Given the description of an element on the screen output the (x, y) to click on. 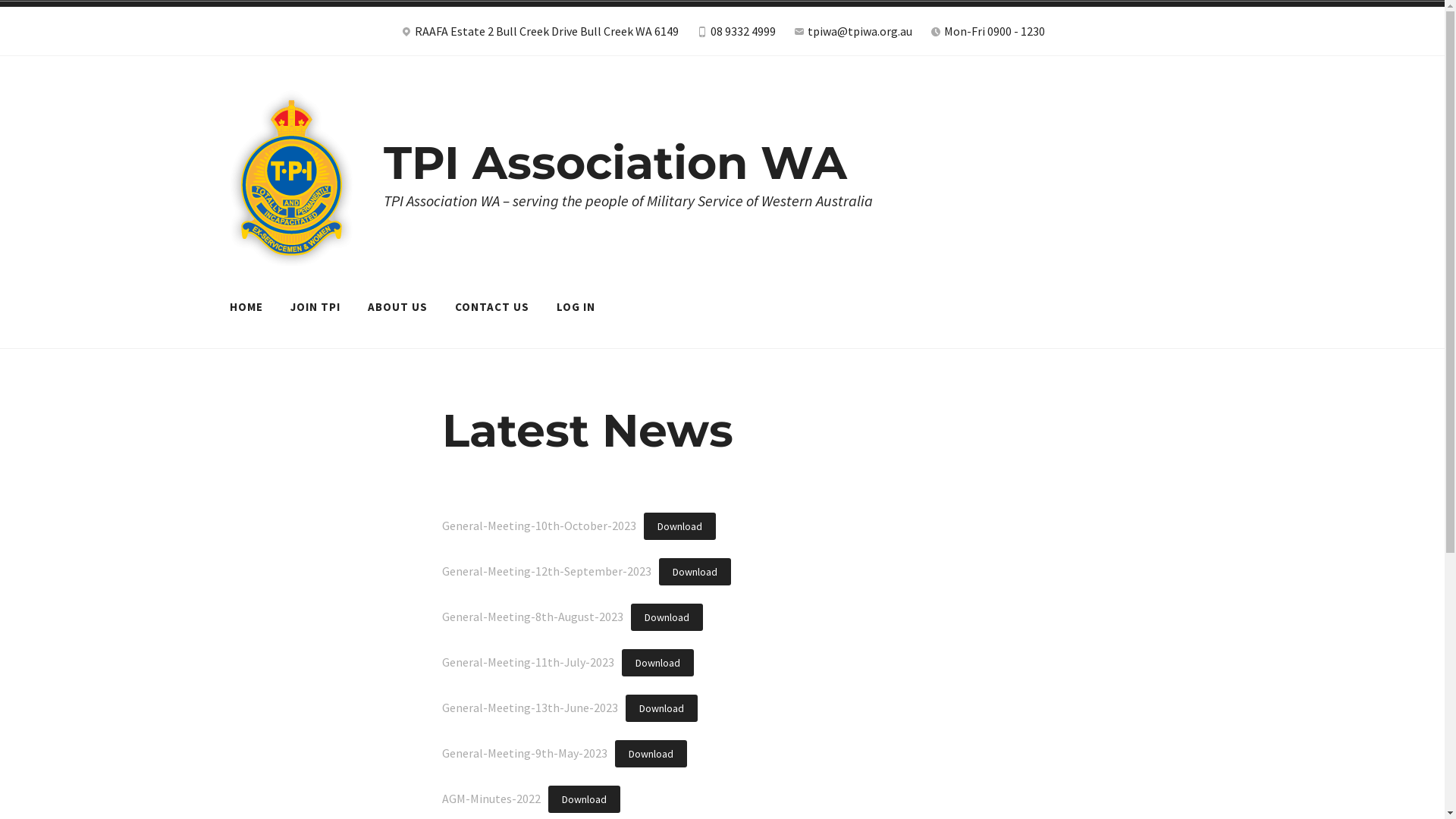
Download Element type: text (661, 707)
LOG IN Element type: text (574, 306)
General-Meeting-13th-June-2023 Element type: text (529, 707)
General-Meeting-10th-October-2023 Element type: text (538, 525)
Download Element type: text (584, 798)
General-Meeting-9th-May-2023 Element type: text (523, 752)
ABOUT US Element type: text (397, 306)
Download Element type: text (679, 525)
General-Meeting-11th-July-2023 Element type: text (527, 661)
Download Element type: text (651, 753)
General-Meeting-12th-September-2023 Element type: text (545, 570)
Download Element type: text (666, 616)
Location RAAFA Estate 2 Bull Creek Drive Bull Creek WA 6149 Element type: text (539, 34)
Download Element type: text (694, 571)
CONTACT US Element type: text (490, 306)
HOME Element type: text (246, 306)
JOIN TPI Element type: text (315, 306)
TPI Association WA Element type: text (615, 162)
General-Meeting-8th-August-2023 Element type: text (531, 616)
Phone 08 9332 4999 Element type: text (735, 34)
Download Element type: text (657, 662)
E-mail tpiwa@tpiwa.org.au Element type: text (852, 34)
AGM-Minutes-2022 Element type: text (490, 798)
